Given the description of an element on the screen output the (x, y) to click on. 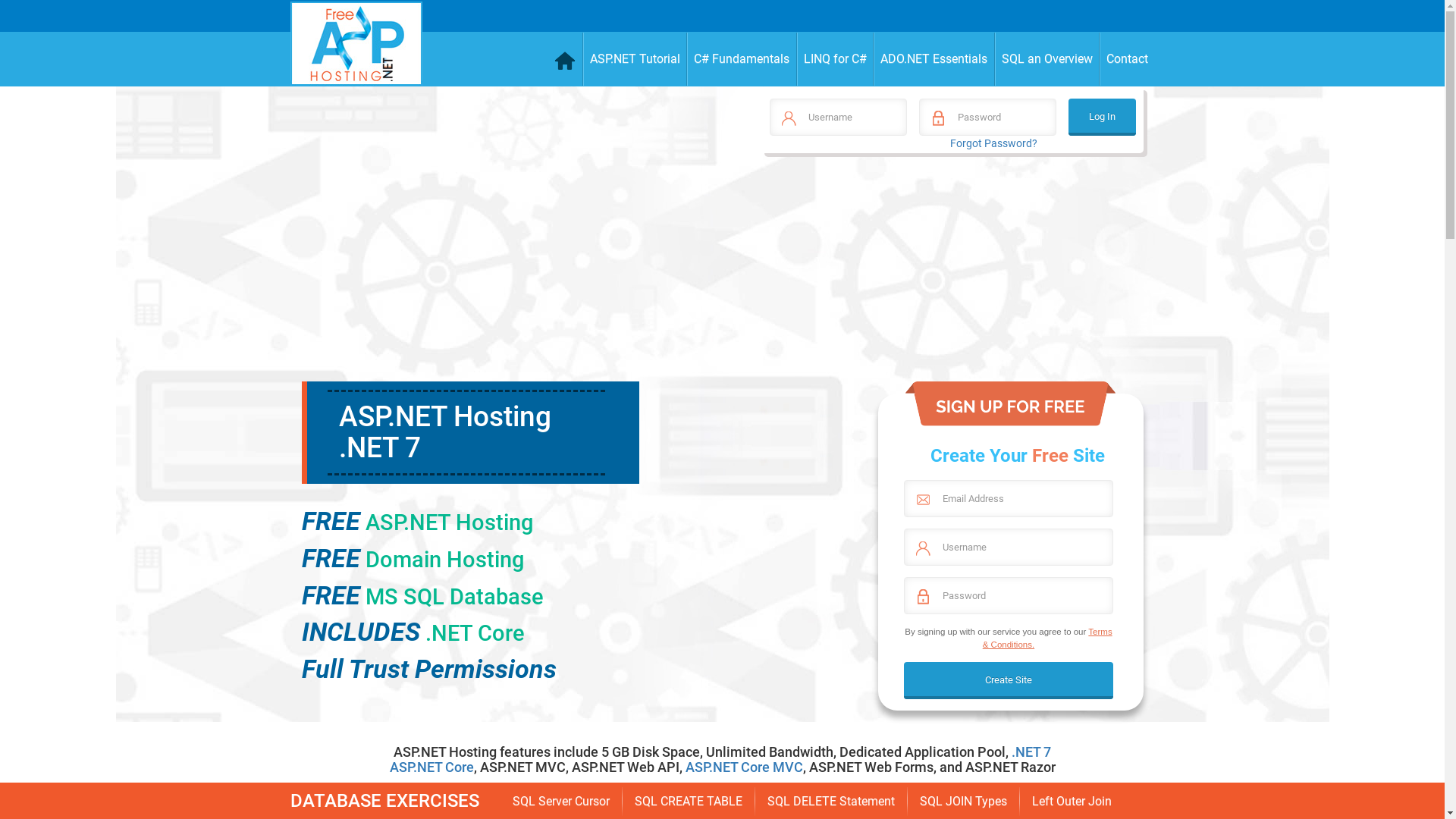
C# Fundamentals Element type: text (742, 58)
ADO.NET Essentials Element type: text (933, 58)
Advertisement Element type: hover (950, 274)
.NET 7 Element type: text (1031, 751)
ASP.NET Core MVC Element type: text (744, 767)
Check User Element type: text (30, 18)
Forgot Password? Element type: text (993, 143)
Log In Element type: text (1101, 116)
ASP.NET Hosting .NET 7 Element type: text (444, 432)
ASP.NET Tutorial Element type: text (634, 58)
Contact Element type: text (1126, 58)
LINQ for C# Element type: text (834, 58)
Create Site Element type: text (1008, 680)
SQL an Overview Element type: text (1047, 58)
Terms & Conditions. Element type: text (1047, 637)
ASP.NET Core Element type: text (431, 767)
